Given the description of an element on the screen output the (x, y) to click on. 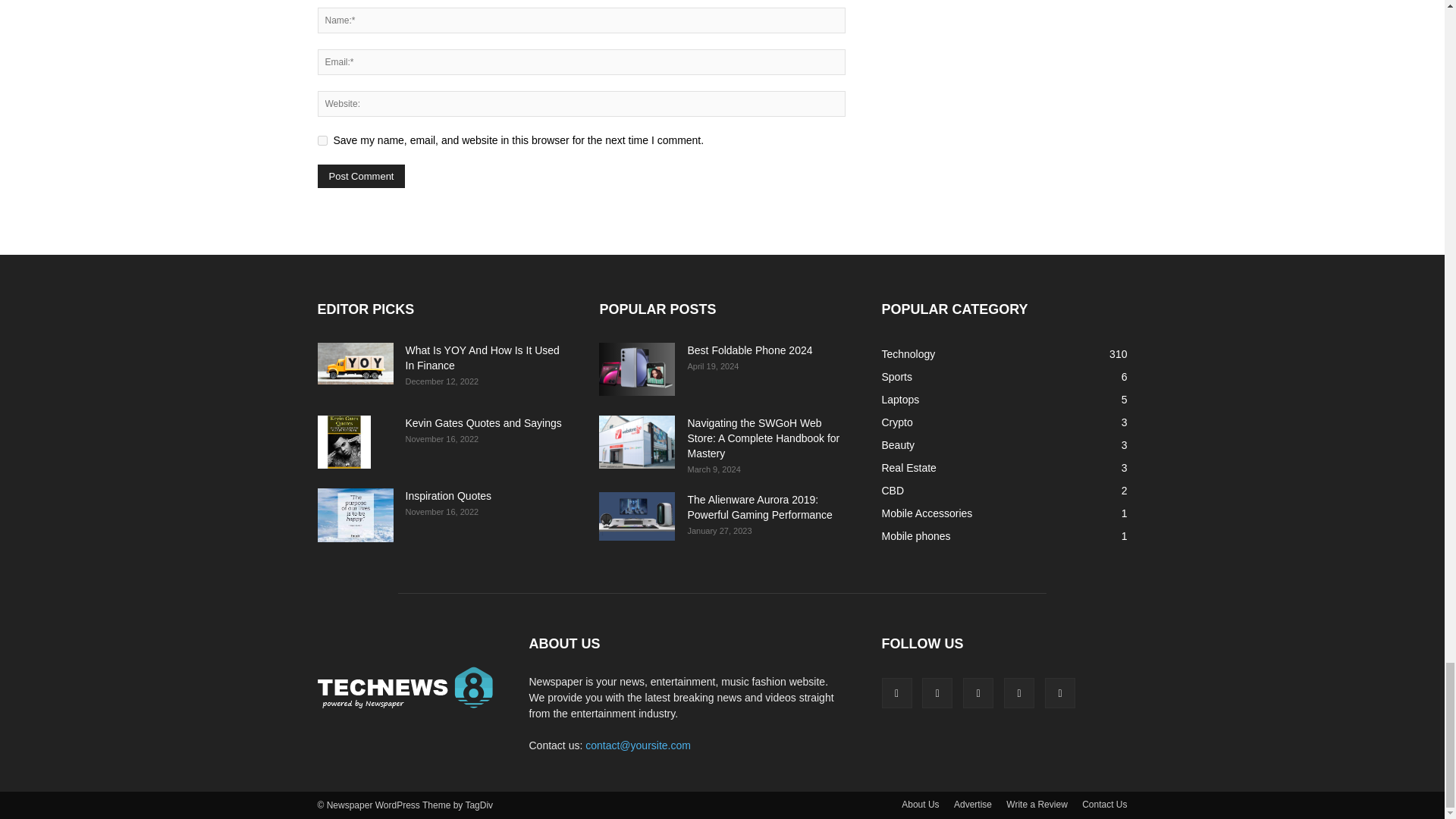
yes (321, 140)
Post Comment (360, 176)
